Given the description of an element on the screen output the (x, y) to click on. 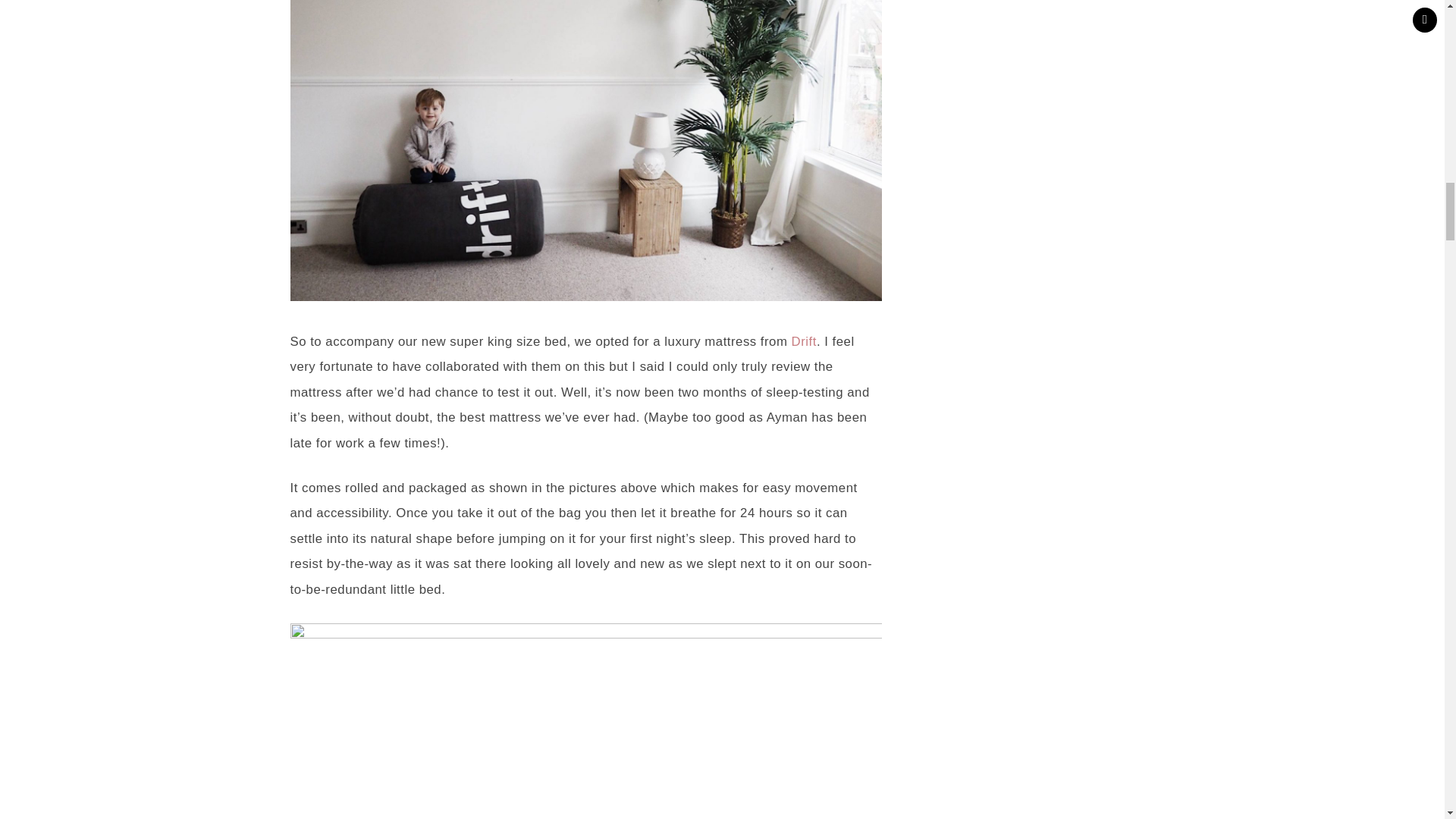
Drift (804, 341)
